Given the description of an element on the screen output the (x, y) to click on. 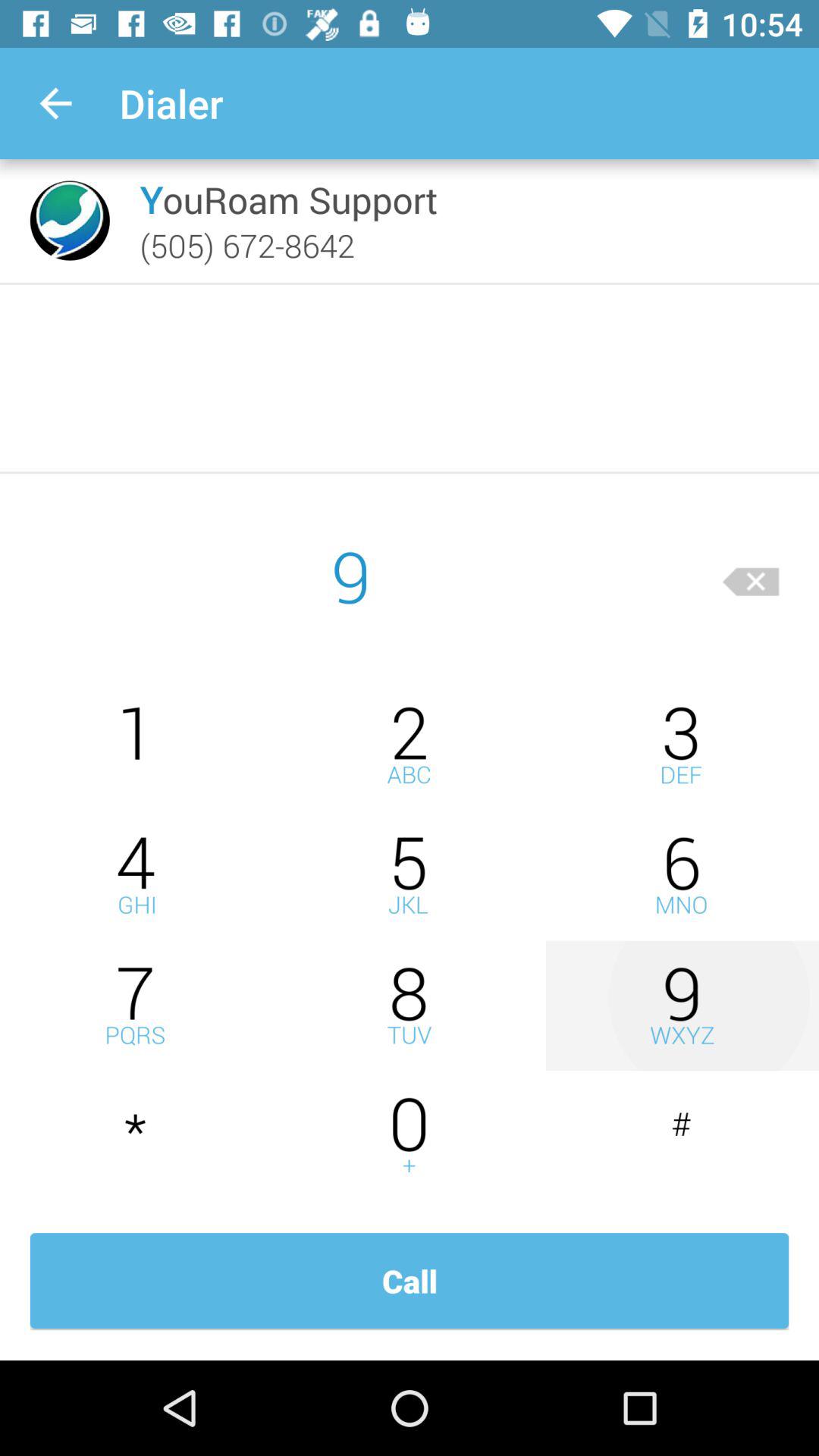
press 1 (136, 745)
